Given the description of an element on the screen output the (x, y) to click on. 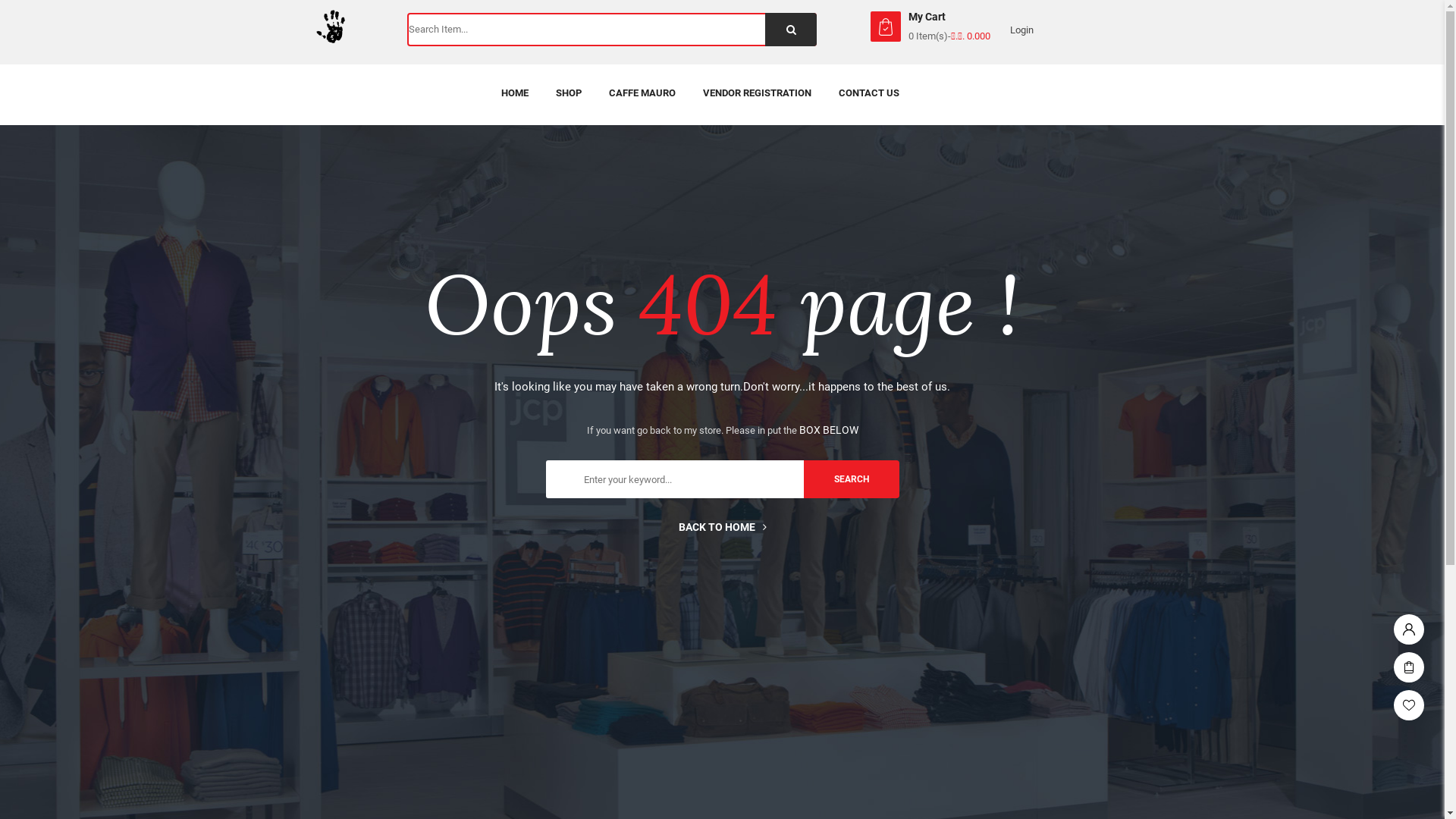
View your shopping cart Element type: hover (885, 26)
CONTACT US Element type: text (869, 93)
SHOP Element type: text (568, 93)
VENDOR REGISTRATION Element type: text (757, 93)
Login Element type: text (1408, 625)
HOME Element type: text (514, 93)
BACK TO HOME Element type: text (721, 526)
Login Element type: text (1021, 29)
SEARCH Element type: text (851, 479)
CAFFE MAURO Element type: text (642, 93)
